Given the description of an element on the screen output the (x, y) to click on. 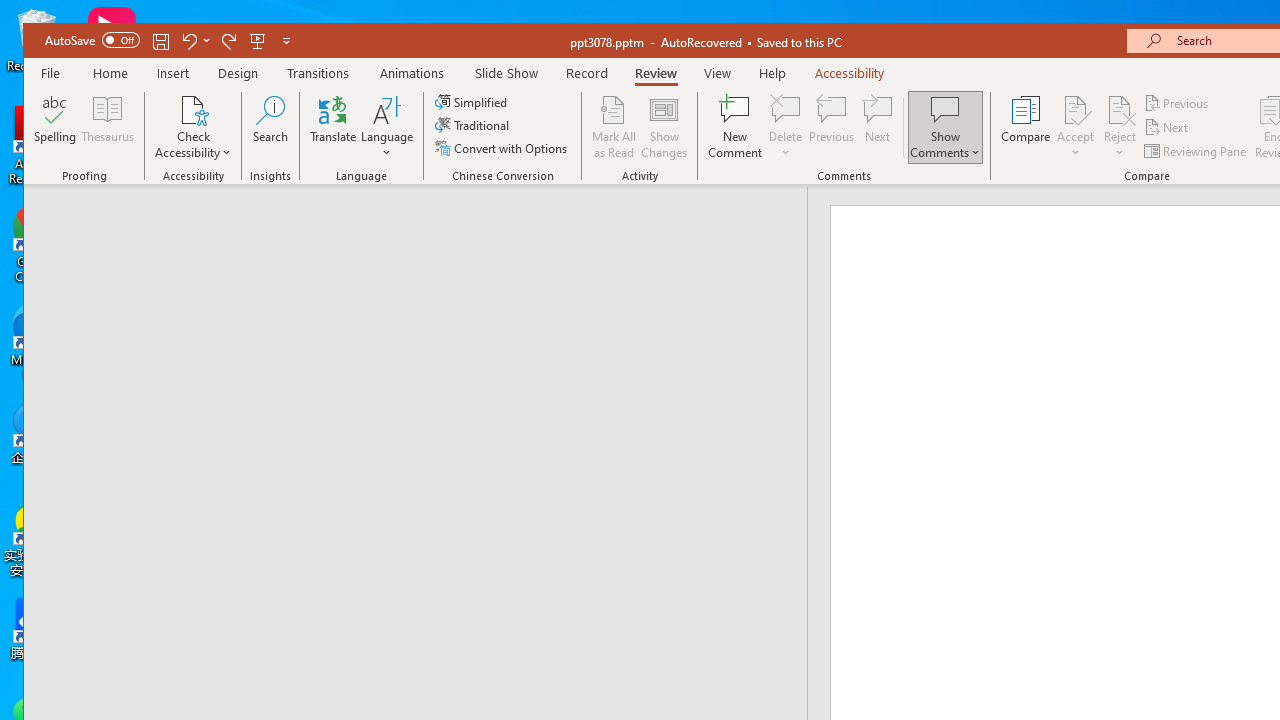
Spelling... (55, 127)
Show Comments (945, 109)
Transitions (317, 73)
Accept (1075, 127)
Thesaurus... (107, 127)
Reject Change (1119, 109)
Traditional (473, 124)
Accept Change (1075, 109)
Translate (333, 127)
Accessibility (849, 73)
Show Comments (945, 127)
Quick Access Toolbar (169, 40)
